Given the description of an element on the screen output the (x, y) to click on. 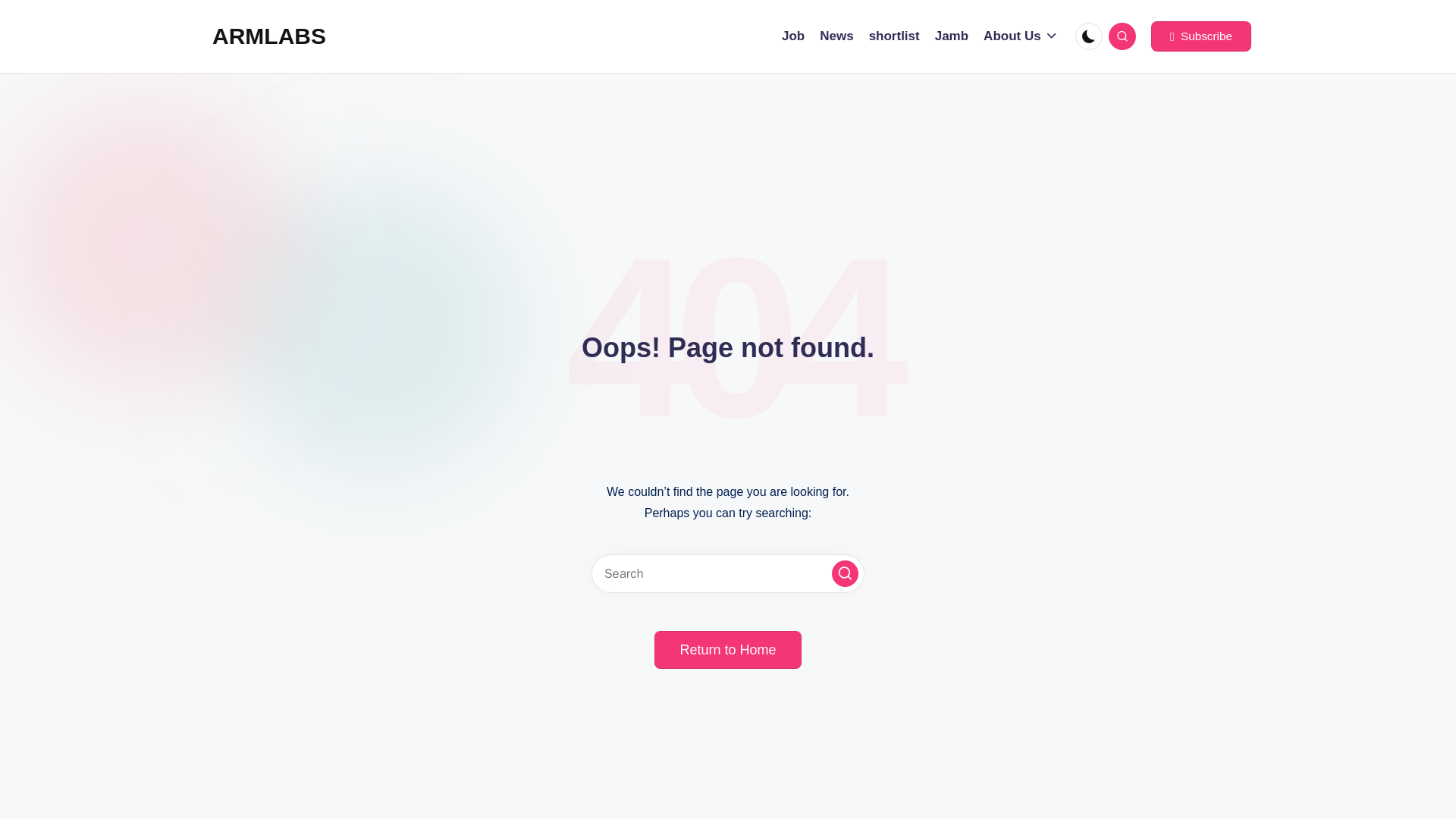
Return to Home (726, 649)
Subscribe (1200, 36)
News (836, 36)
ARMLABS (269, 36)
Job (793, 36)
Jamb (951, 36)
shortlist (894, 36)
About Us (1021, 36)
